Given the description of an element on the screen output the (x, y) to click on. 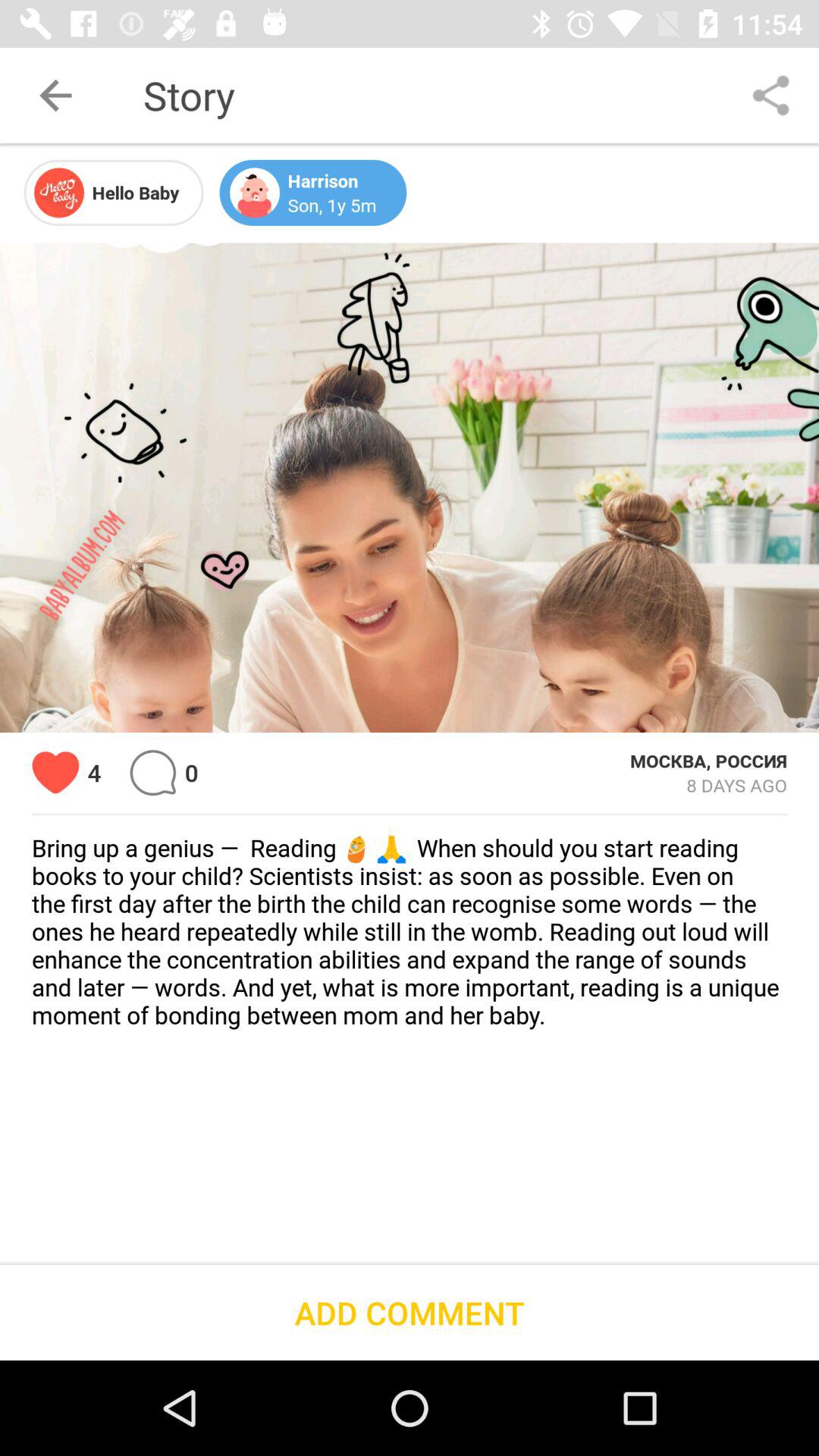
tap item to the left of the 0 item (152, 772)
